Given the description of an element on the screen output the (x, y) to click on. 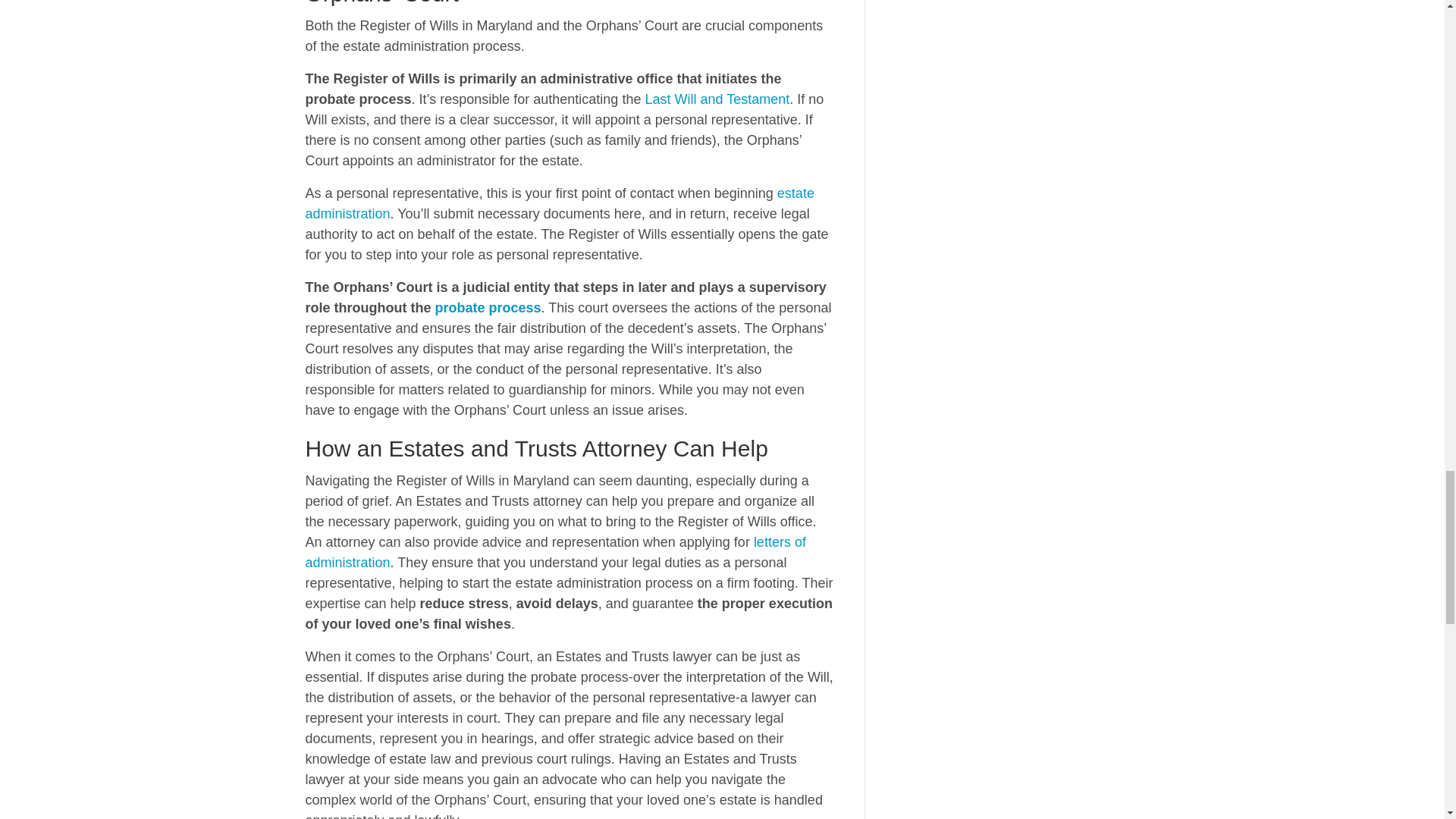
estate administration (558, 203)
Last Will and Testament (717, 99)
letters of administration (554, 552)
probate process (486, 307)
